Given the description of an element on the screen output the (x, y) to click on. 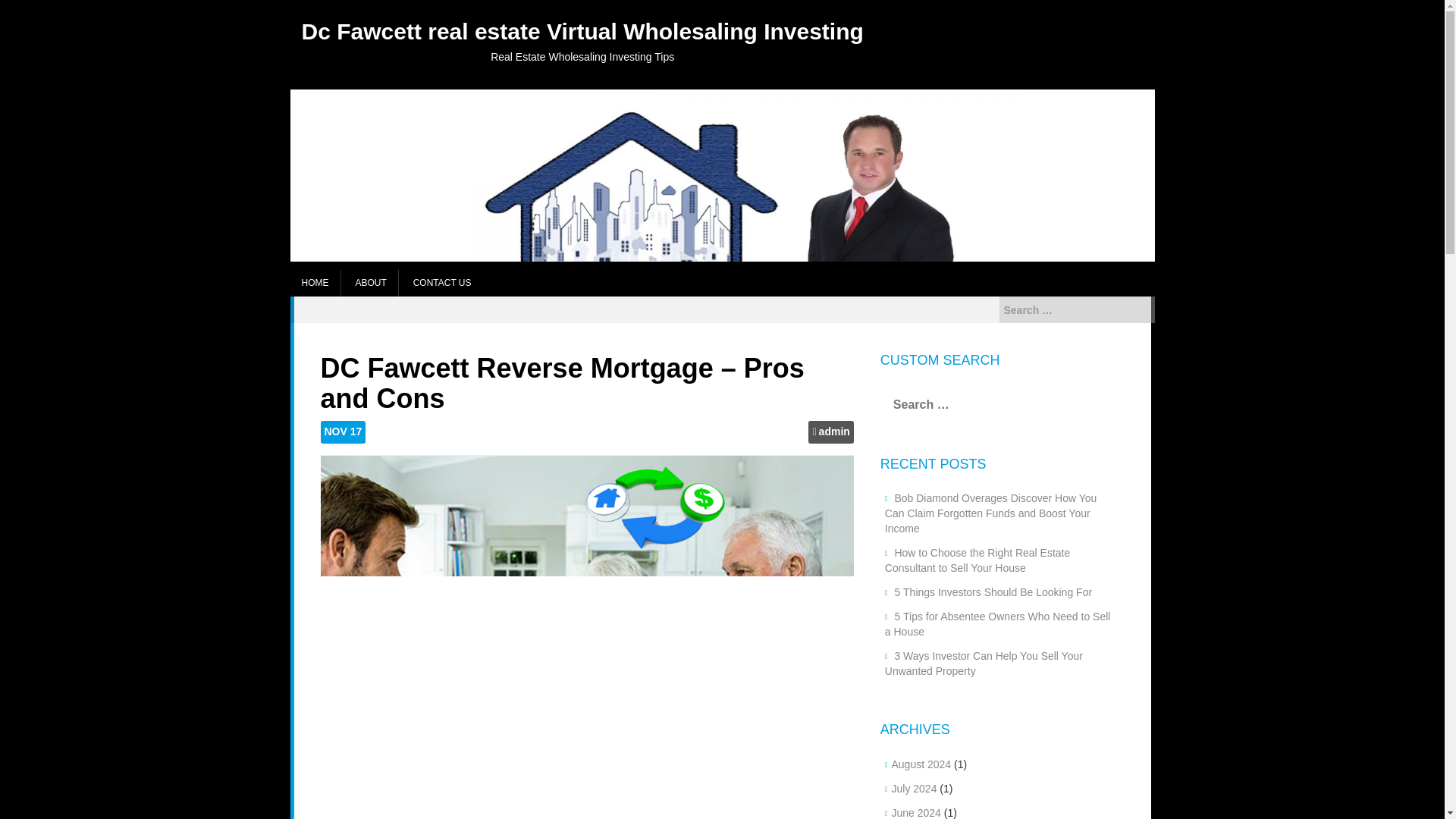
5 Things Investors Should Be Looking For (992, 592)
HOME (314, 283)
Search (24, 9)
July 2024 (913, 788)
August 2024 (920, 764)
June 2024 (915, 812)
CONTACT US (442, 283)
5 Tips for Absentee Owners Who Need to Sell a House (997, 624)
admin (834, 432)
3 Ways Investor Can Help You Sell Your Unwanted Property (984, 663)
